Given the description of an element on the screen output the (x, y) to click on. 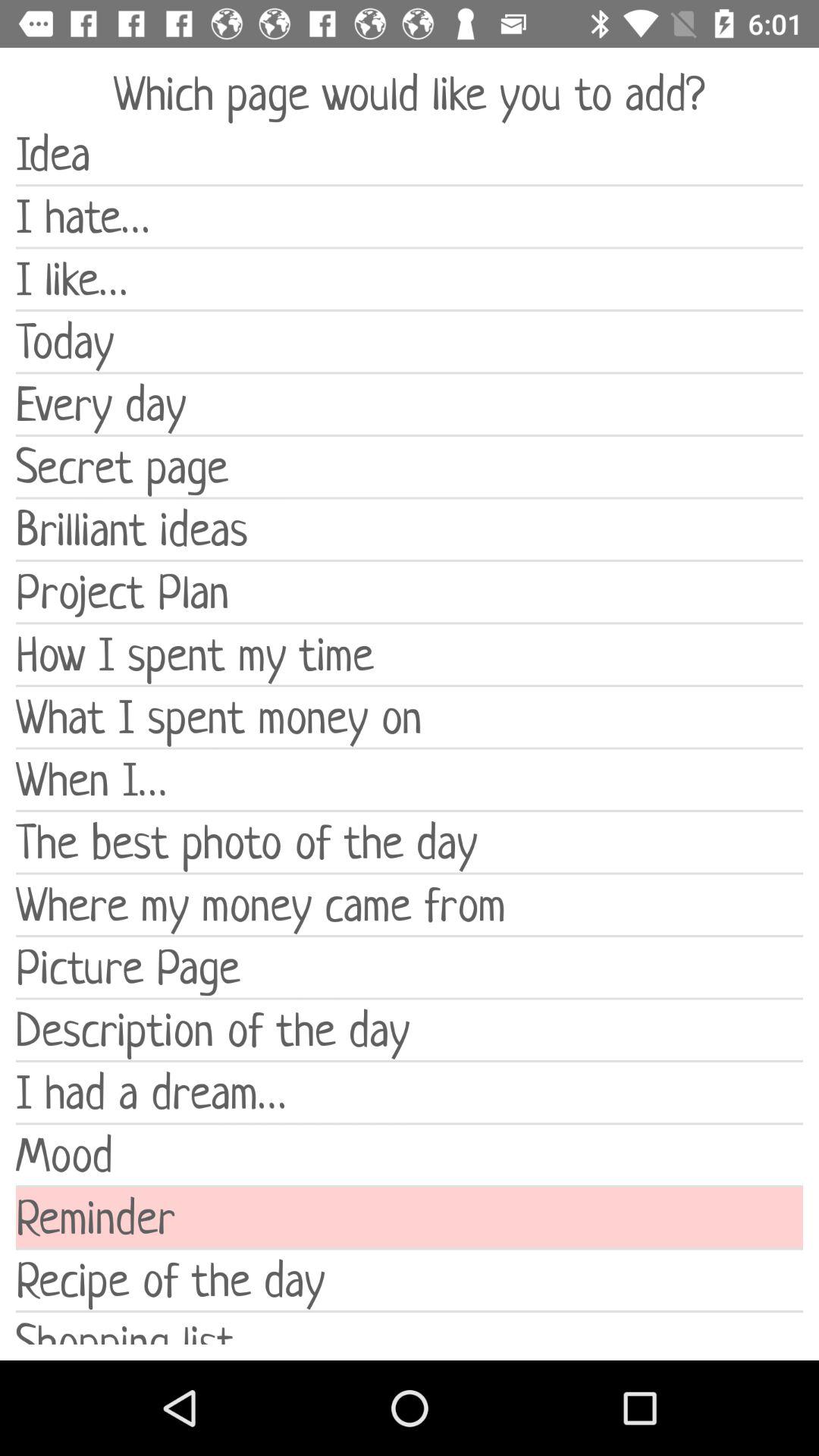
scroll until the picture page icon (409, 967)
